Given the description of an element on the screen output the (x, y) to click on. 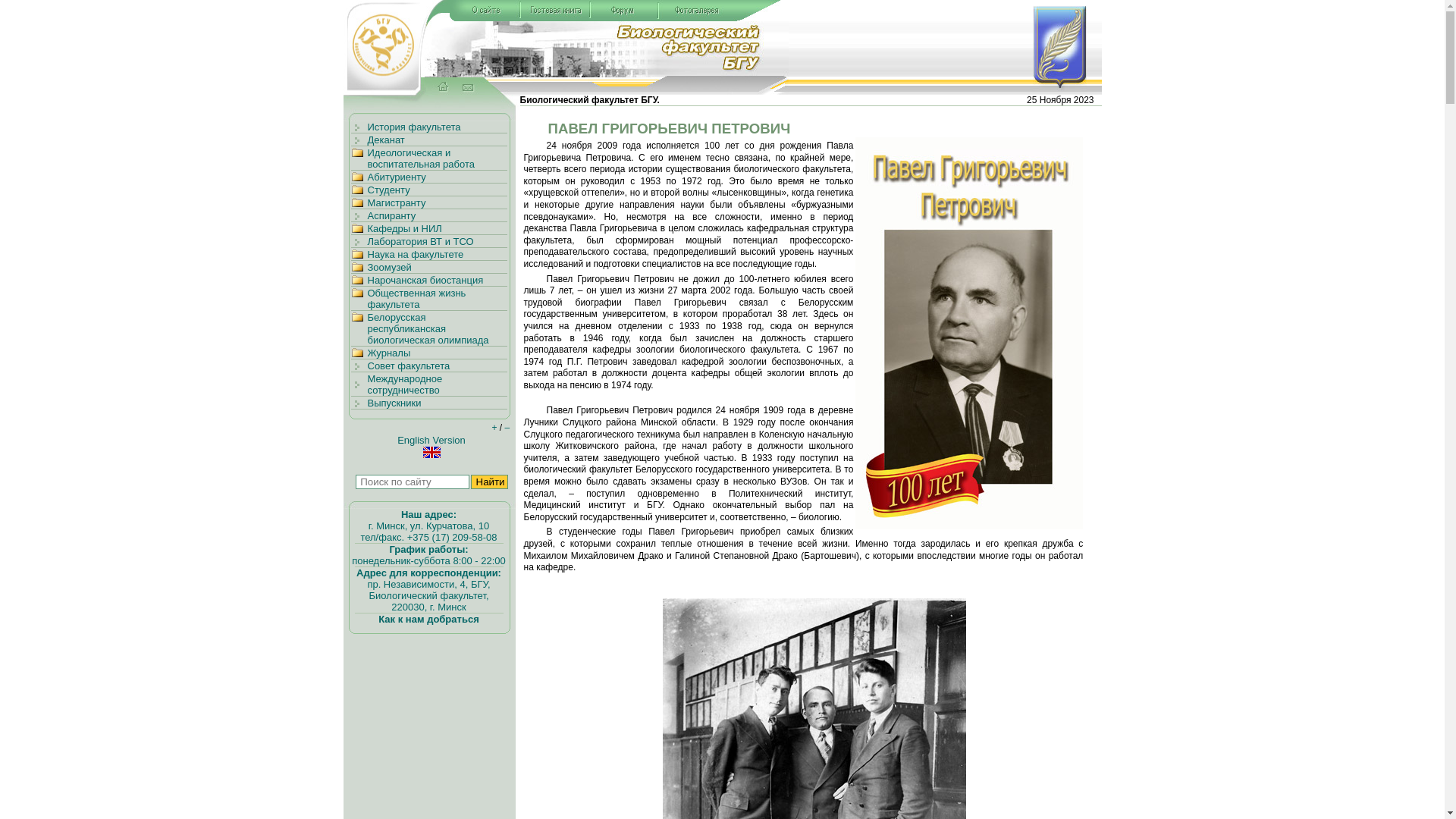
English Version Element type: text (431, 447)
     Element type: text (464, 85)
+ Element type: text (493, 427)
    Element type: text (438, 85)
